Given the description of an element on the screen output the (x, y) to click on. 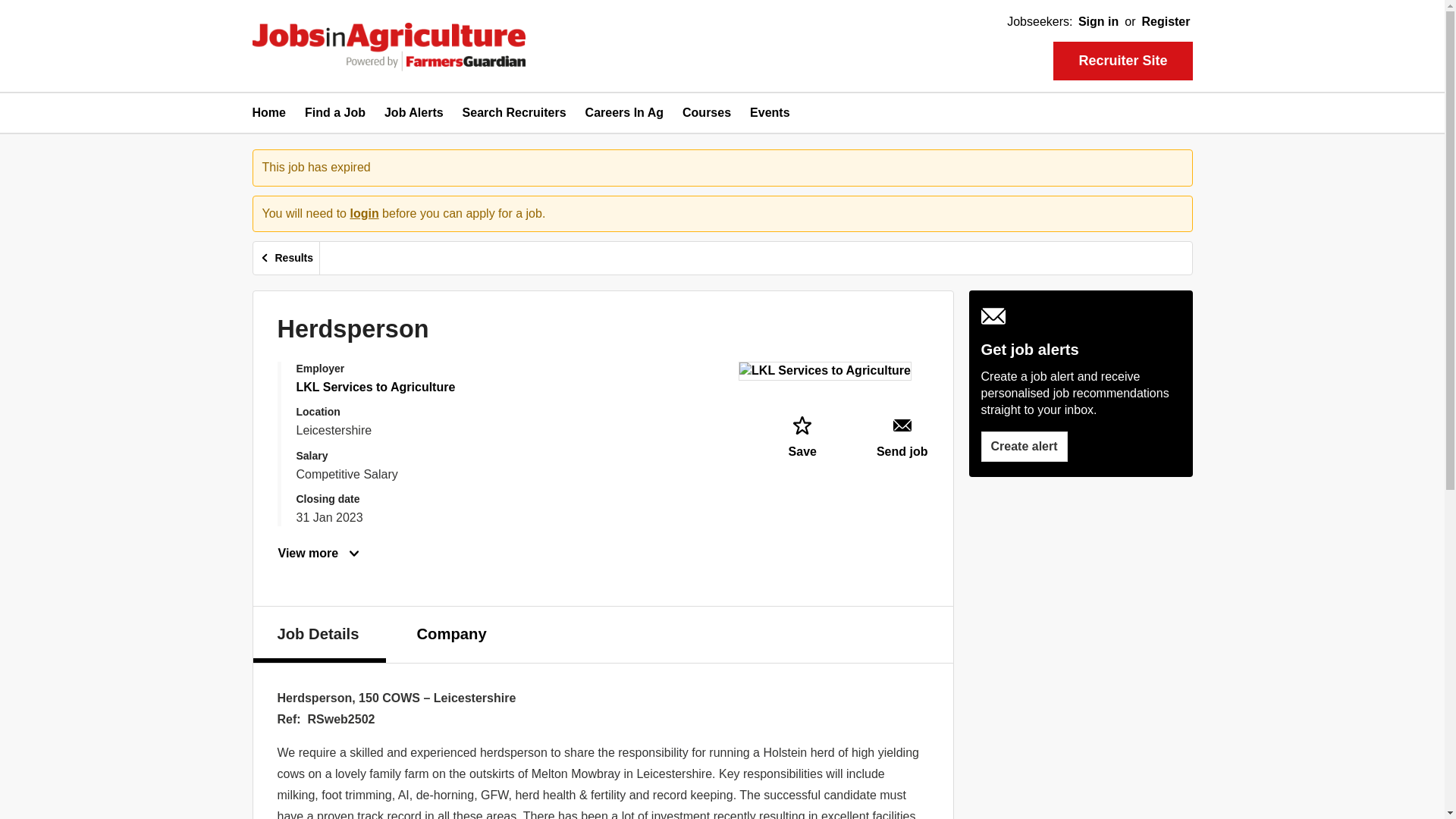
JobsInAgricultureJBE (387, 46)
Create alert (1024, 446)
Register (1165, 21)
Courses (706, 117)
Find a Job (334, 117)
Careers In Ag (624, 117)
Results (286, 257)
Job Details (320, 634)
Sign in (1098, 21)
Company (452, 632)
Recruiter Site (1122, 60)
login (363, 213)
Search Recruiters (514, 117)
Home (268, 117)
View more (319, 553)
